Given the description of an element on the screen output the (x, y) to click on. 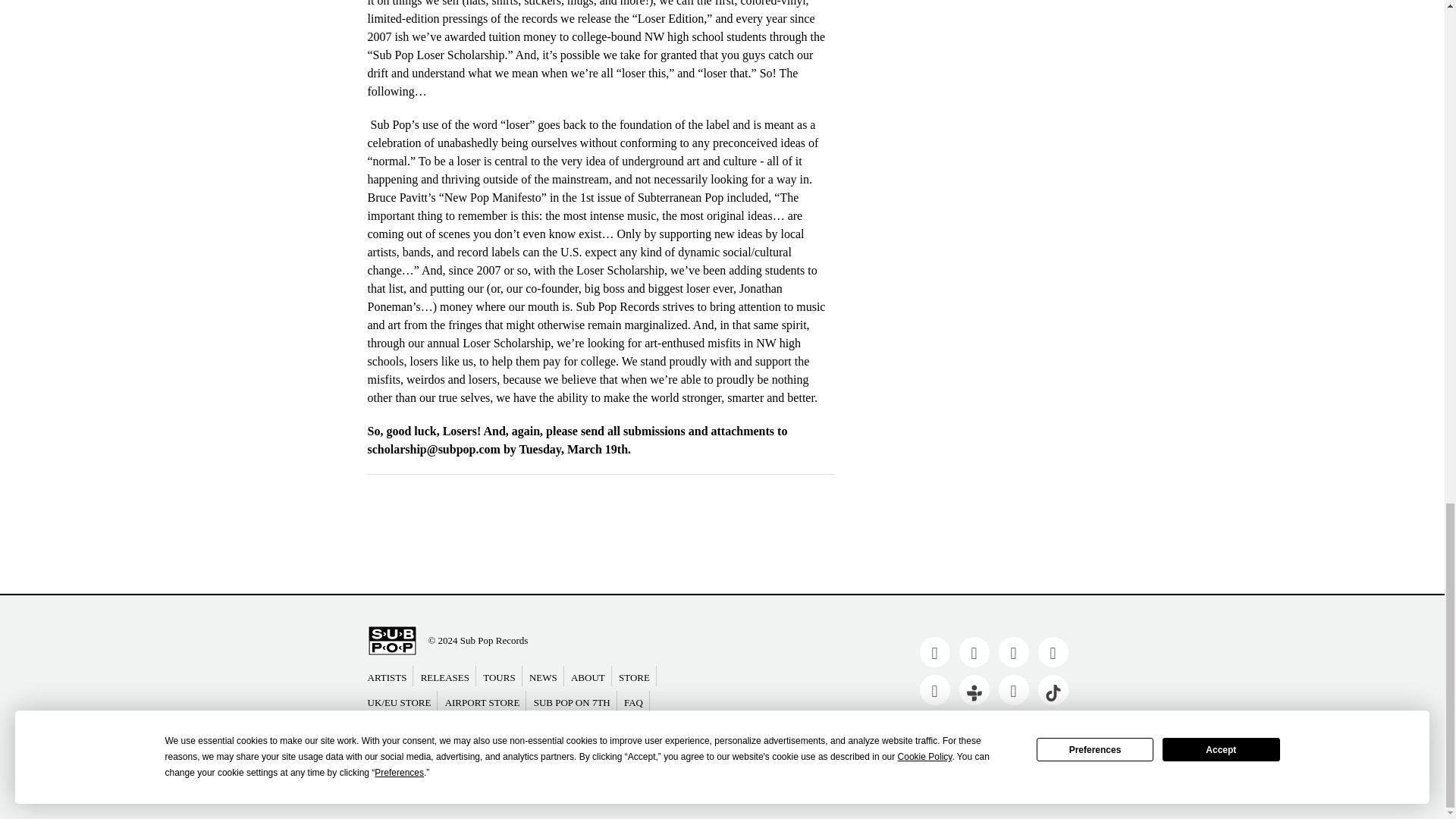
The official Sub Pop tiktok (1051, 689)
The official Sub Pop Facebook page (933, 652)
Shop at the Megamart (637, 675)
The official Sub Pop Twitter page (973, 652)
The official Sub Pop YouTube channel (1012, 652)
Sub Pop Homepage (391, 639)
TOURS (502, 675)
NEWS (546, 675)
The official Sub Pop TuneIn page (973, 689)
RELEASES (448, 675)
The official Sub Pop Instagram page (1012, 689)
The official Sub Pop Spotify page (933, 689)
ARTISTS (389, 675)
ABOUT (590, 675)
The official Sub Pop Soundcloud page (1051, 652)
